Given the description of an element on the screen output the (x, y) to click on. 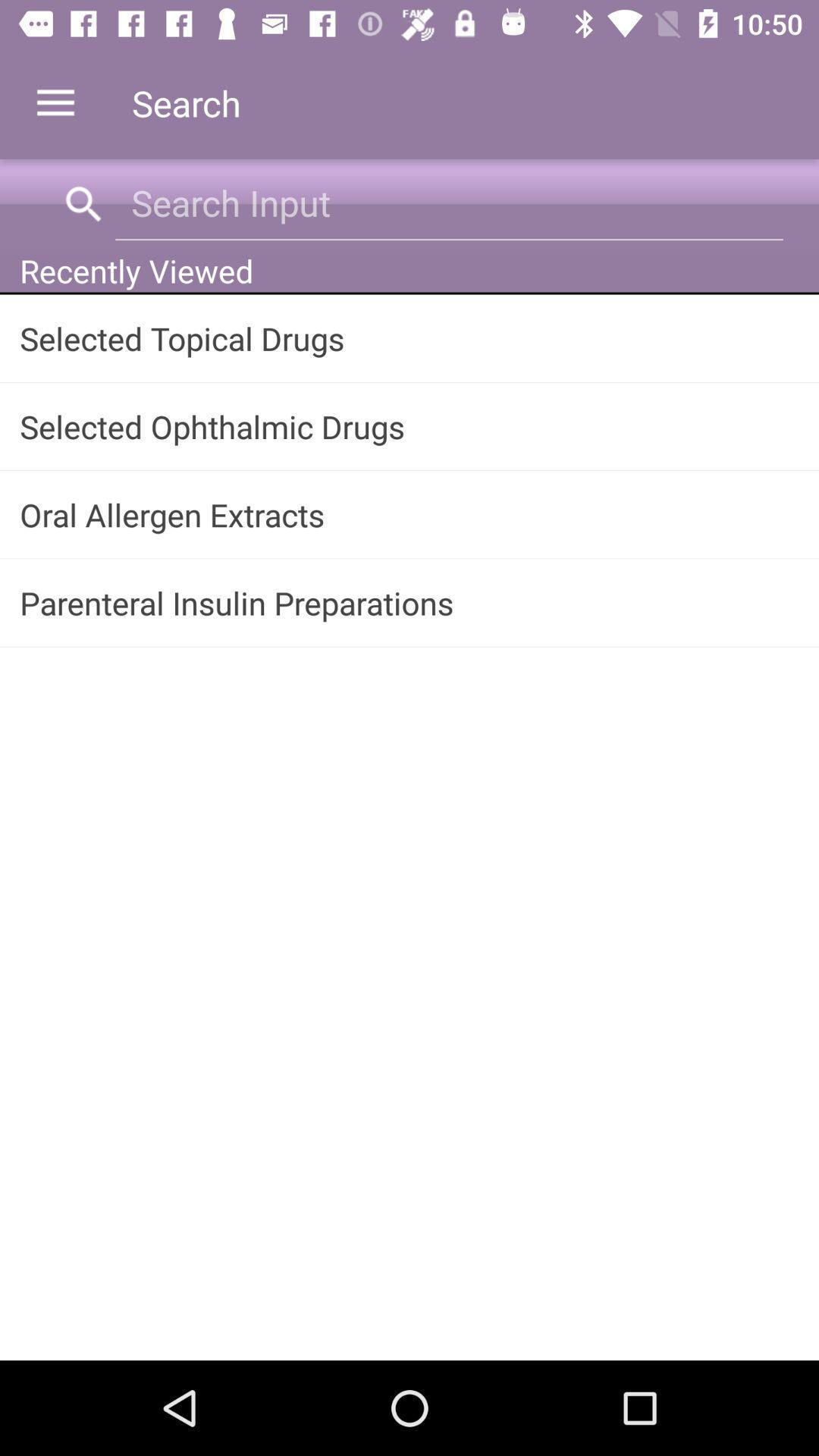
jump until parenteral insulin preparations icon (409, 602)
